Given the description of an element on the screen output the (x, y) to click on. 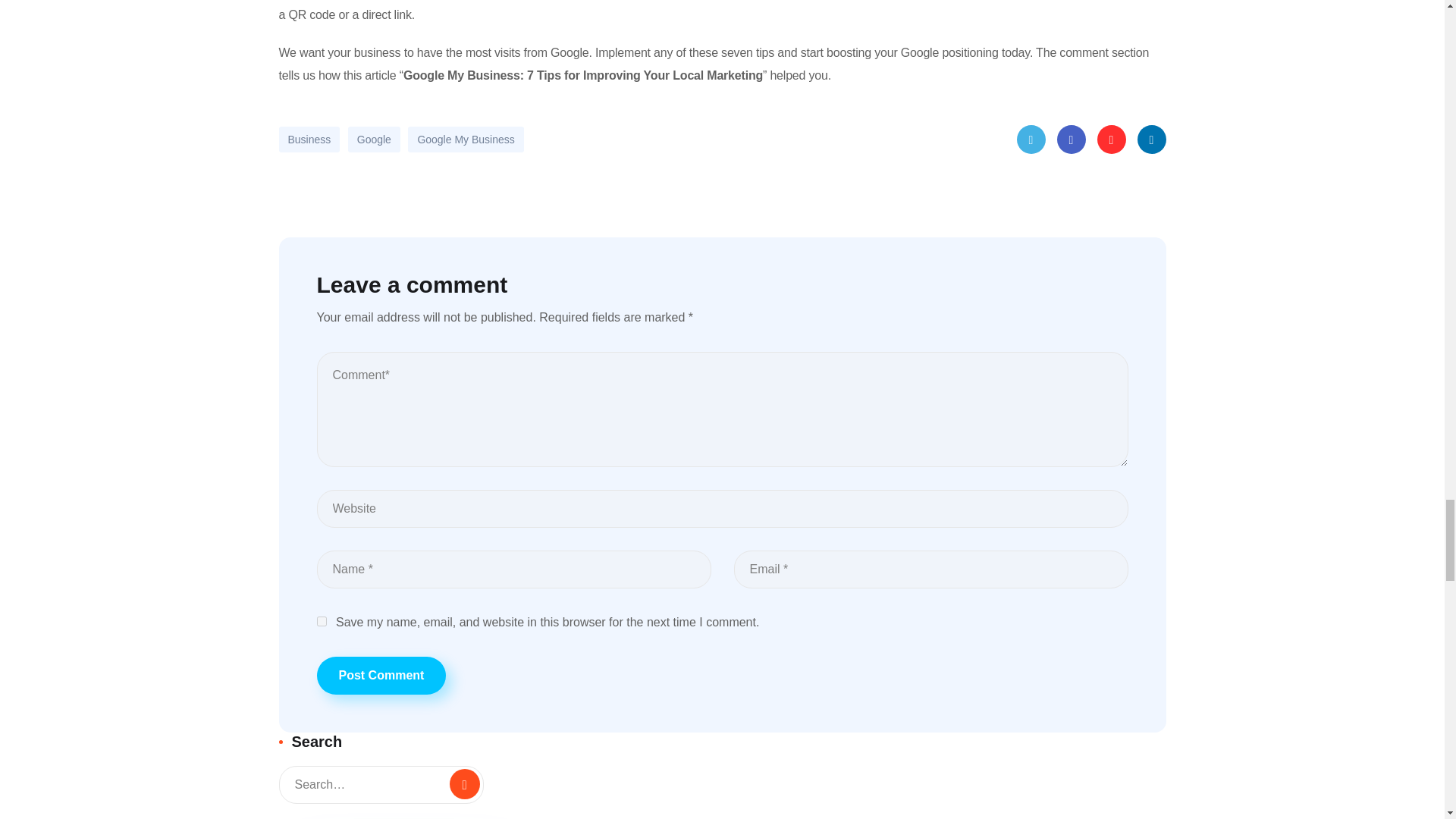
Google (373, 139)
LinkedIn (1151, 139)
Google My Business (464, 139)
Pinterest (1110, 139)
Post Comment (381, 675)
Twitter (1030, 139)
LinkedIn (1151, 139)
Post Comment (381, 675)
Facebook (1071, 139)
Pinterest (1110, 139)
yes (321, 621)
Twitter (1030, 139)
Business (309, 139)
Facebook (1071, 139)
